Given the description of an element on the screen output the (x, y) to click on. 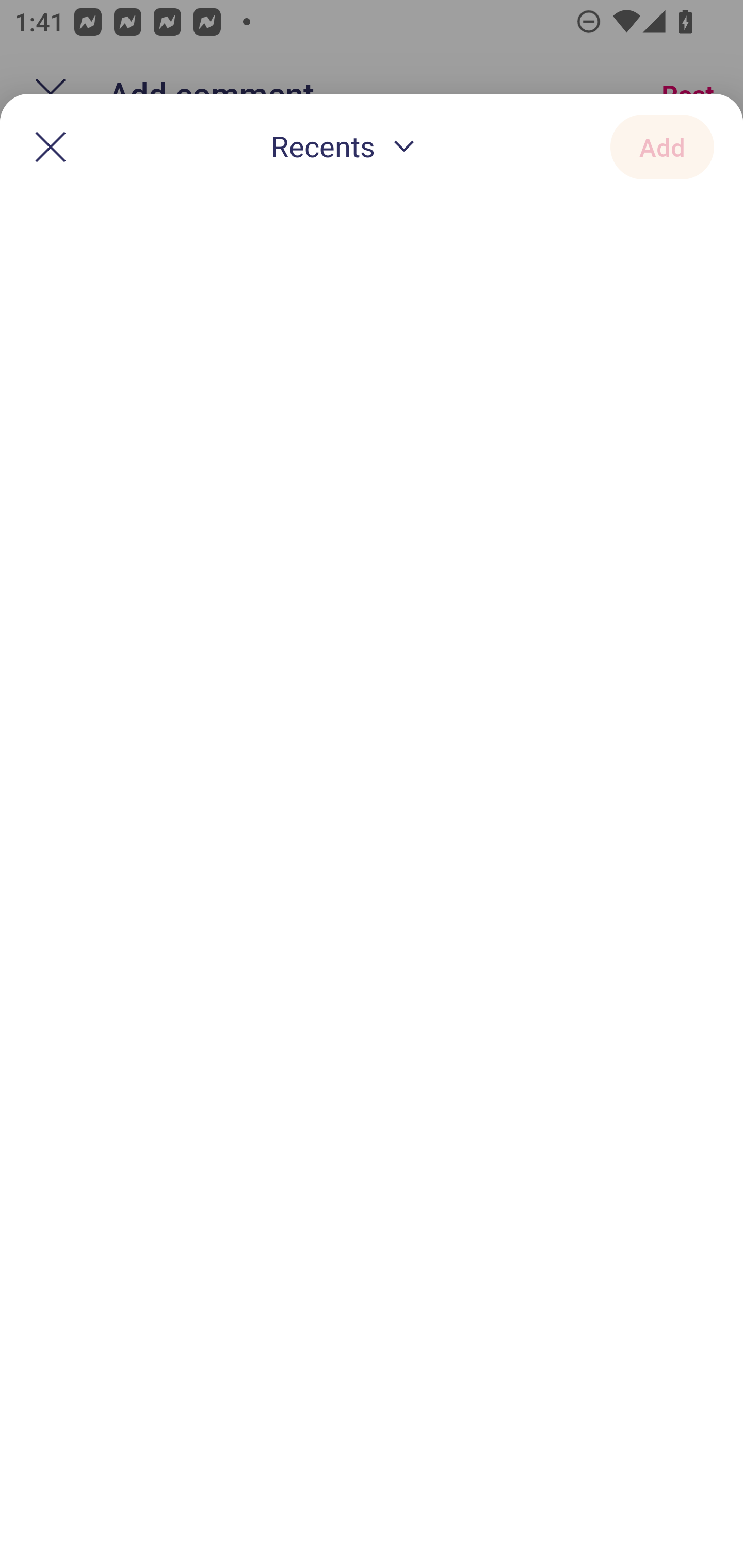
Selected folder: Recents Recents (346, 147)
Close (50, 146)
Add (662, 146)
